Given the description of an element on the screen output the (x, y) to click on. 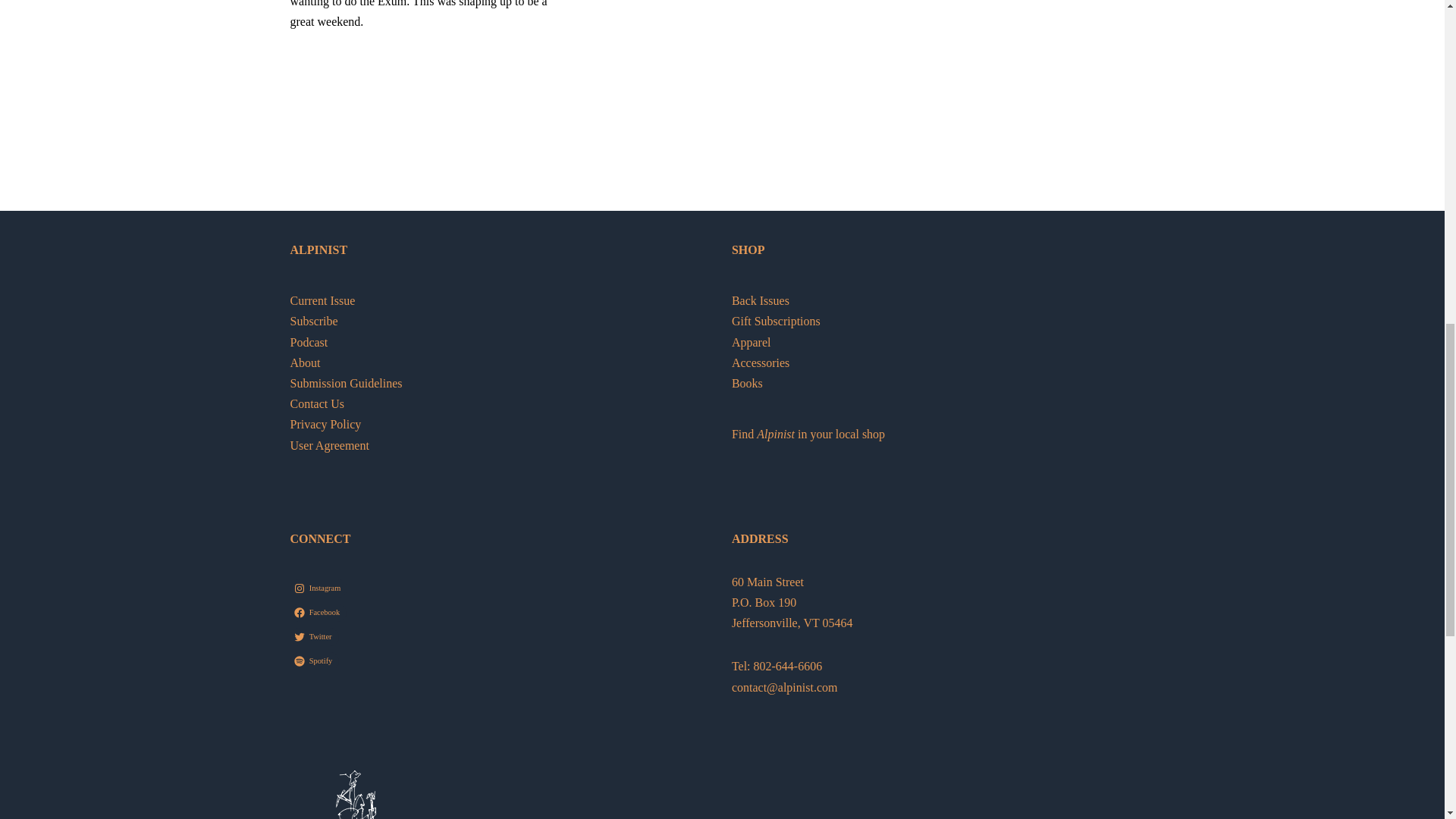
User Agreement (328, 445)
Subscribe (313, 320)
About (304, 362)
Submission Guidelines (345, 382)
Back Issues (760, 300)
Current Issue (322, 300)
Privacy Policy (325, 423)
Podcast (308, 341)
Contact Us (316, 403)
